Given the description of an element on the screen output the (x, y) to click on. 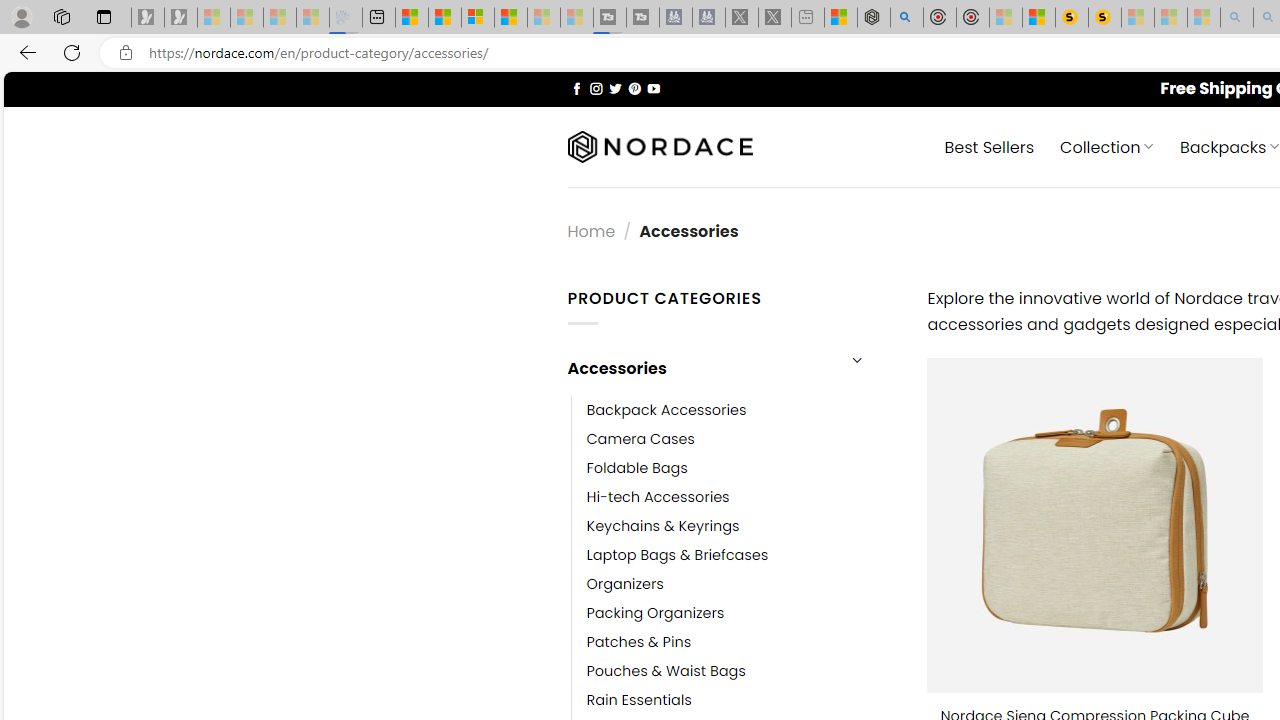
Packing Organizers (742, 614)
Patches & Pins (742, 642)
Backpack Accessories (666, 409)
Foldable Bags (637, 467)
Microsoft Start - Sleeping (543, 17)
Accessories (700, 368)
